Given the description of an element on the screen output the (x, y) to click on. 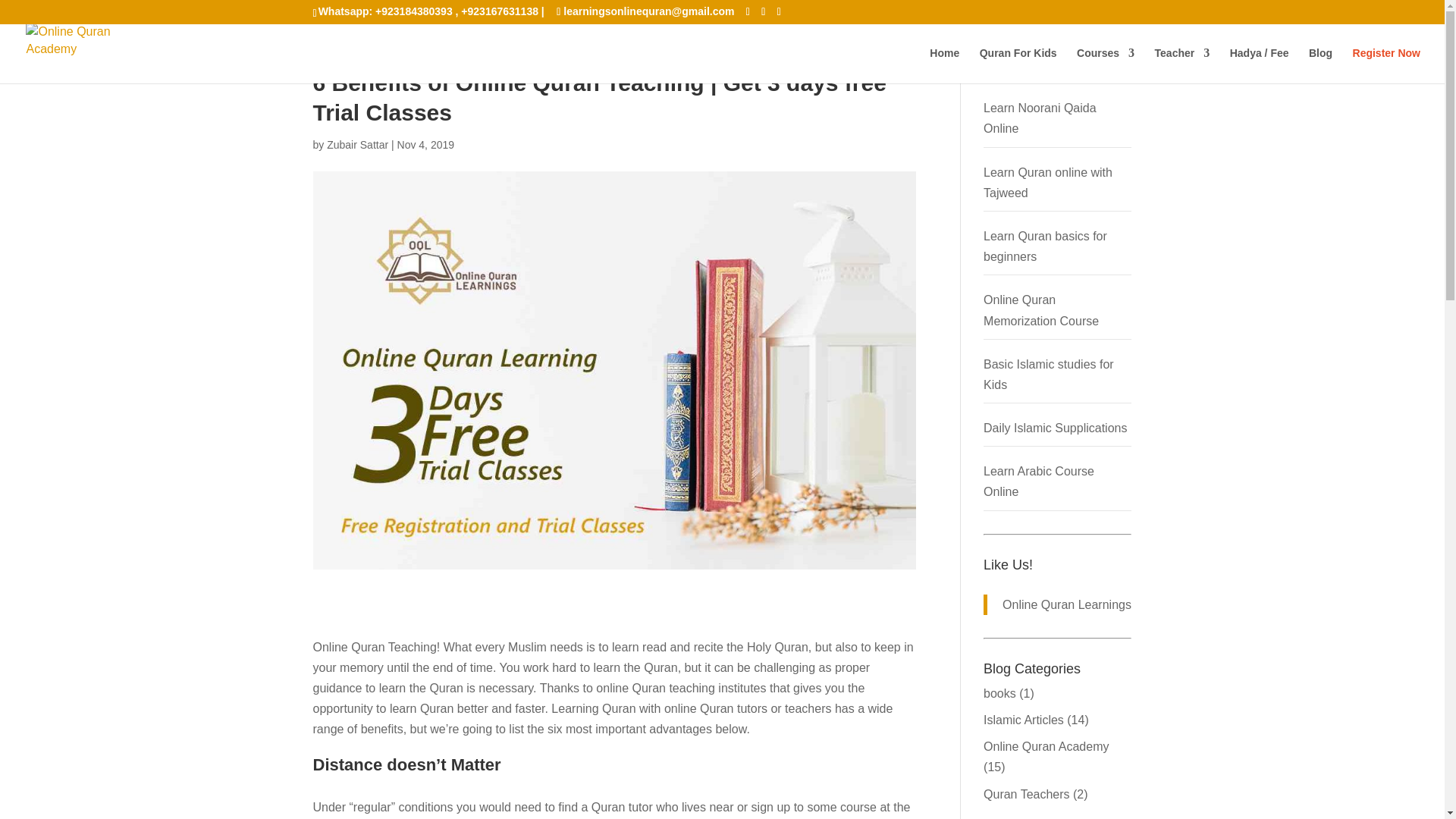
Quran For Kids (1018, 65)
DMCA.com Protection Status (45, 13)
Zubair Sattar (357, 144)
books (1000, 693)
Online Quran Memorization Course (1041, 309)
Courses (1105, 65)
Register Now (1386, 65)
Teacher (1181, 65)
Daily Islamic Supplications (1055, 427)
Learn Noorani Qaida Online (1040, 118)
